Given the description of an element on the screen output the (x, y) to click on. 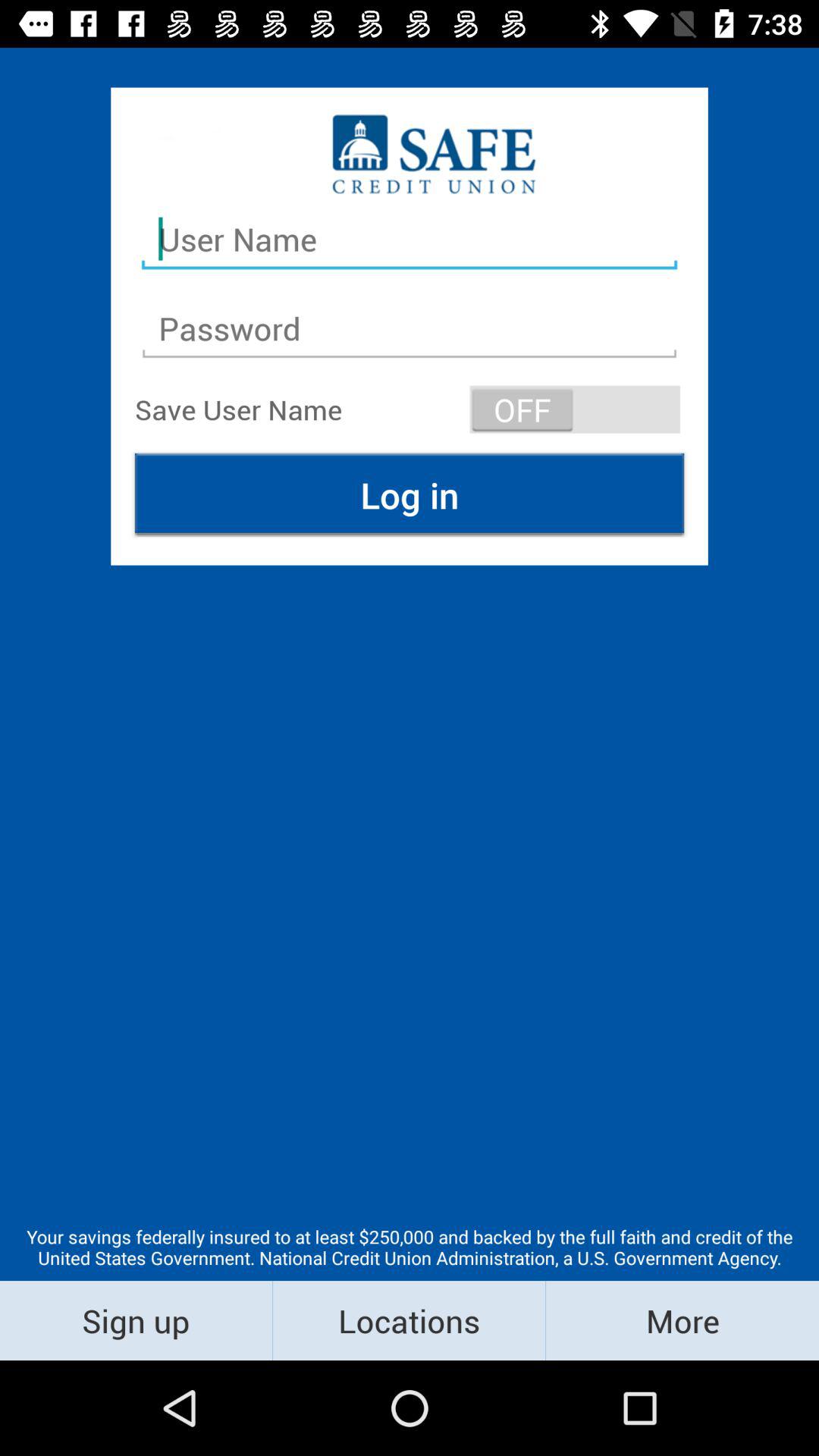
tap item to the right of save user name icon (574, 409)
